Given the description of an element on the screen output the (x, y) to click on. 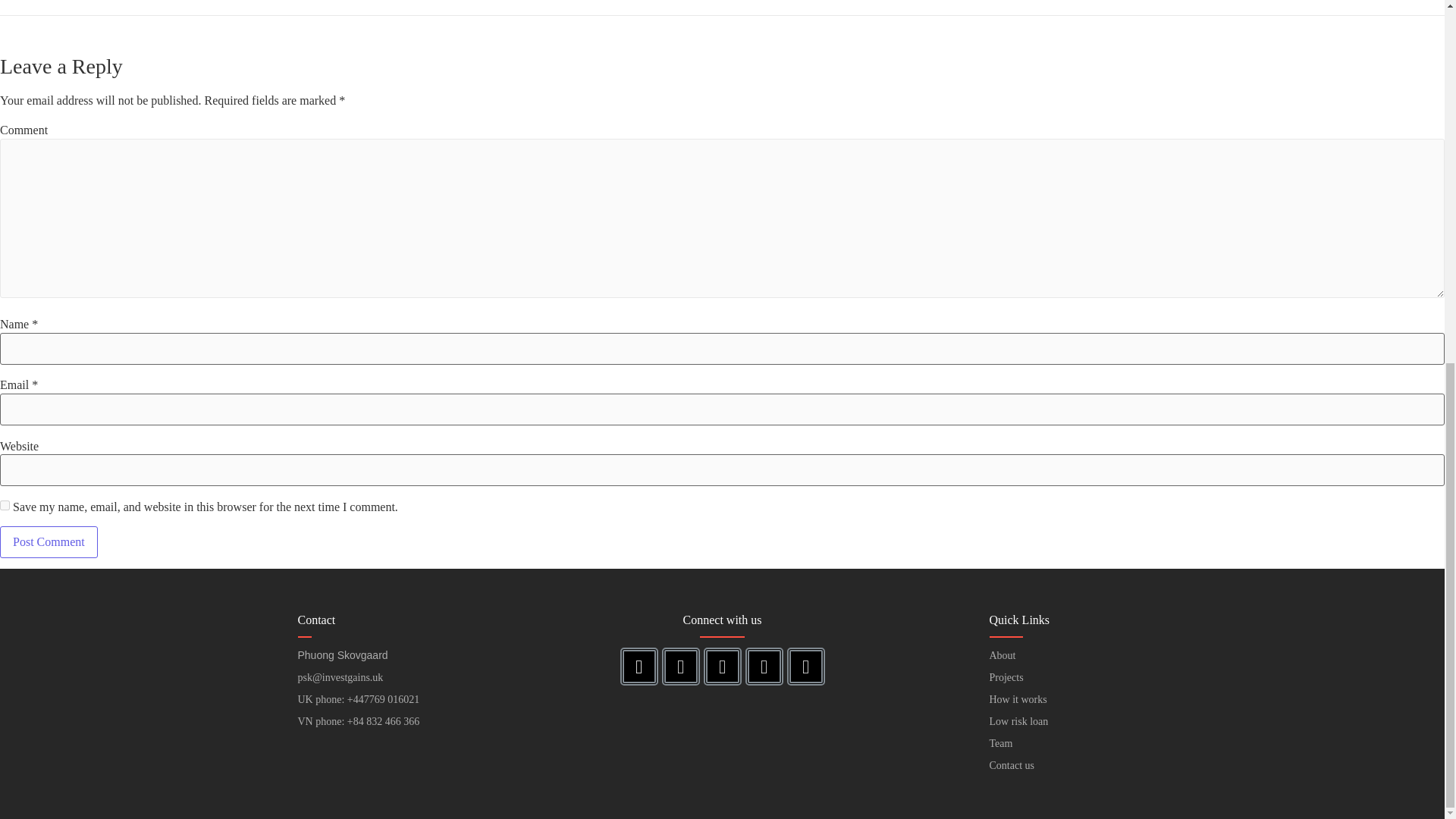
yes (5, 505)
Post Comment (48, 541)
Post Comment (48, 541)
